Given the description of an element on the screen output the (x, y) to click on. 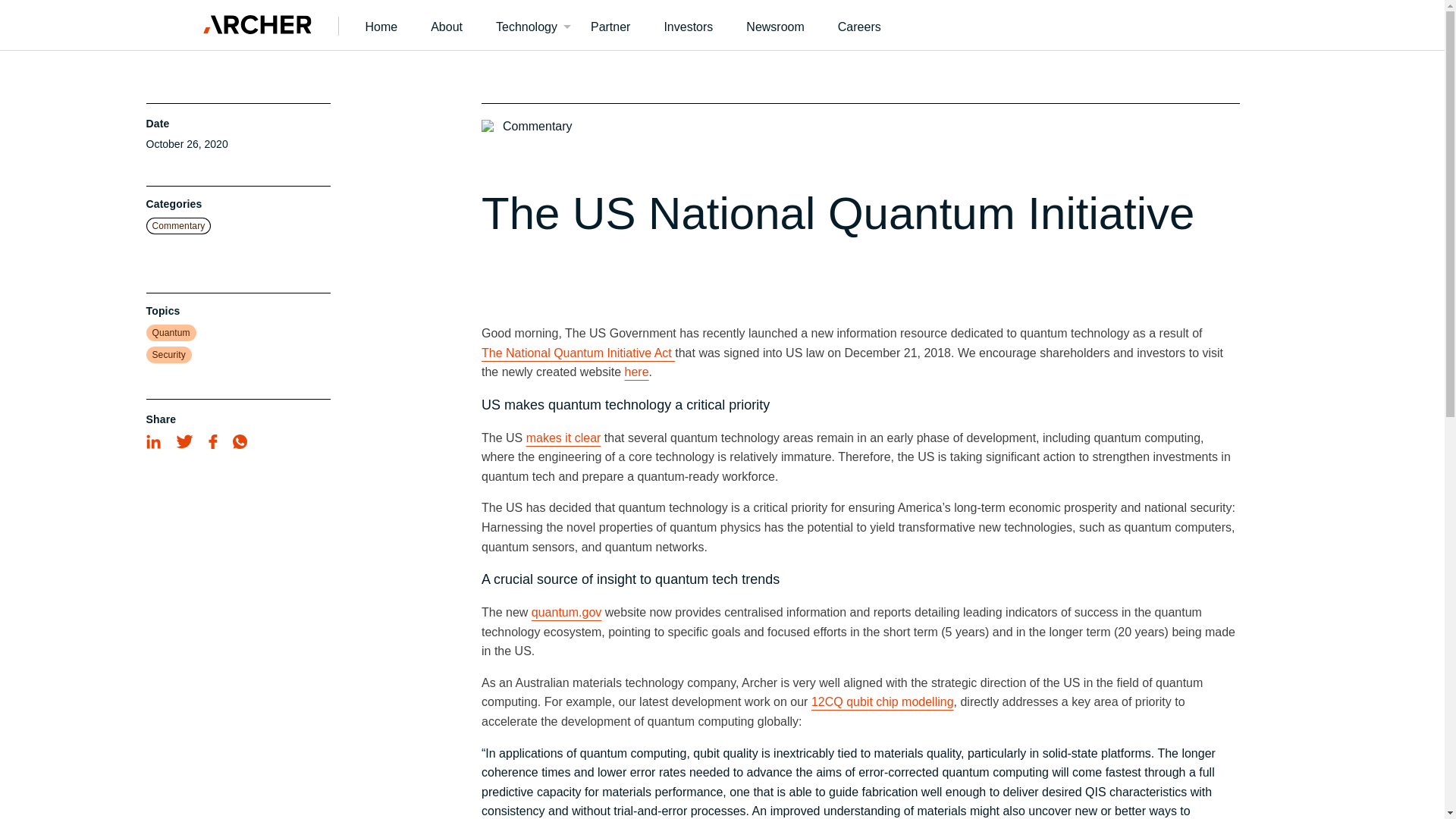
Investors (687, 24)
Quantum (170, 332)
Careers (859, 24)
Home (381, 24)
About (446, 24)
makes it clear (563, 437)
The National Quantum Initiative Act  (578, 352)
quantum.gov (566, 612)
Partner (609, 24)
Security (167, 354)
